Given the description of an element on the screen output the (x, y) to click on. 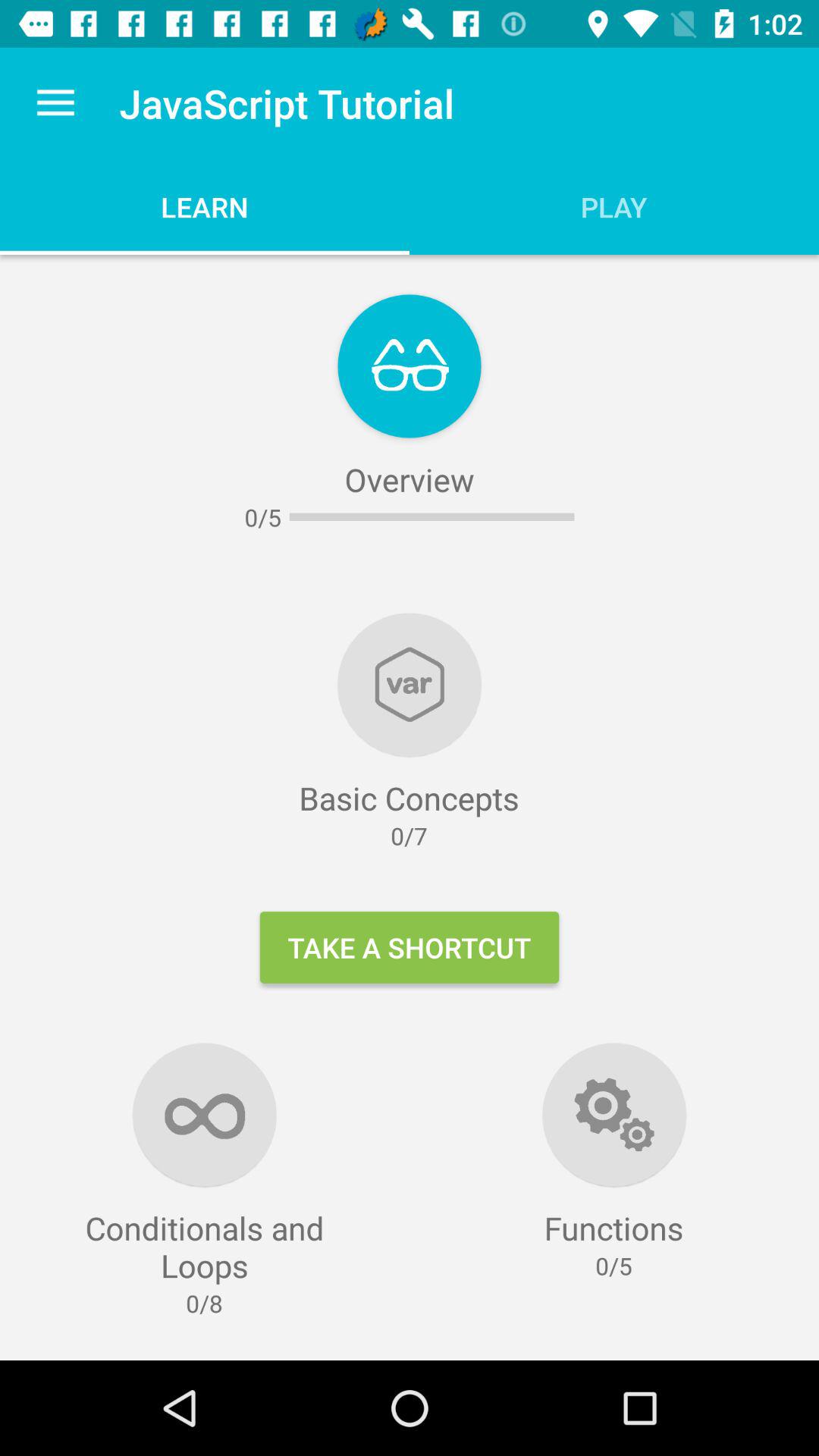
turn on the icon next to the javascript tutorial (55, 103)
